Given the description of an element on the screen output the (x, y) to click on. 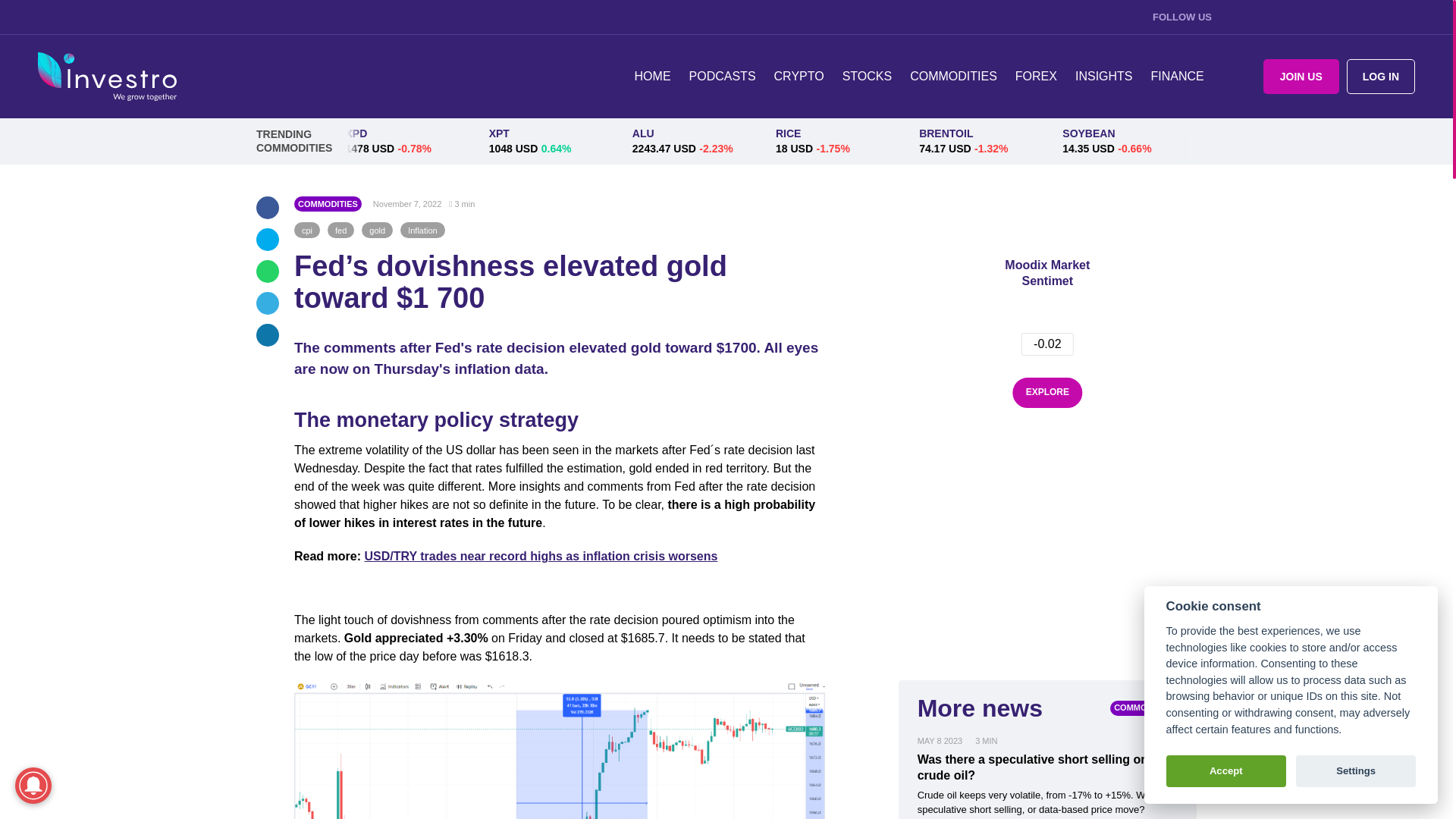
cpi (307, 229)
HOME (652, 76)
Investro.com (106, 76)
STOCKS (866, 76)
JOIN US (1301, 76)
INSIGHTS (1103, 76)
PODCASTS (721, 76)
COMMODITIES (327, 203)
gold (377, 229)
CRYPTO (799, 76)
